Given the description of an element on the screen output the (x, y) to click on. 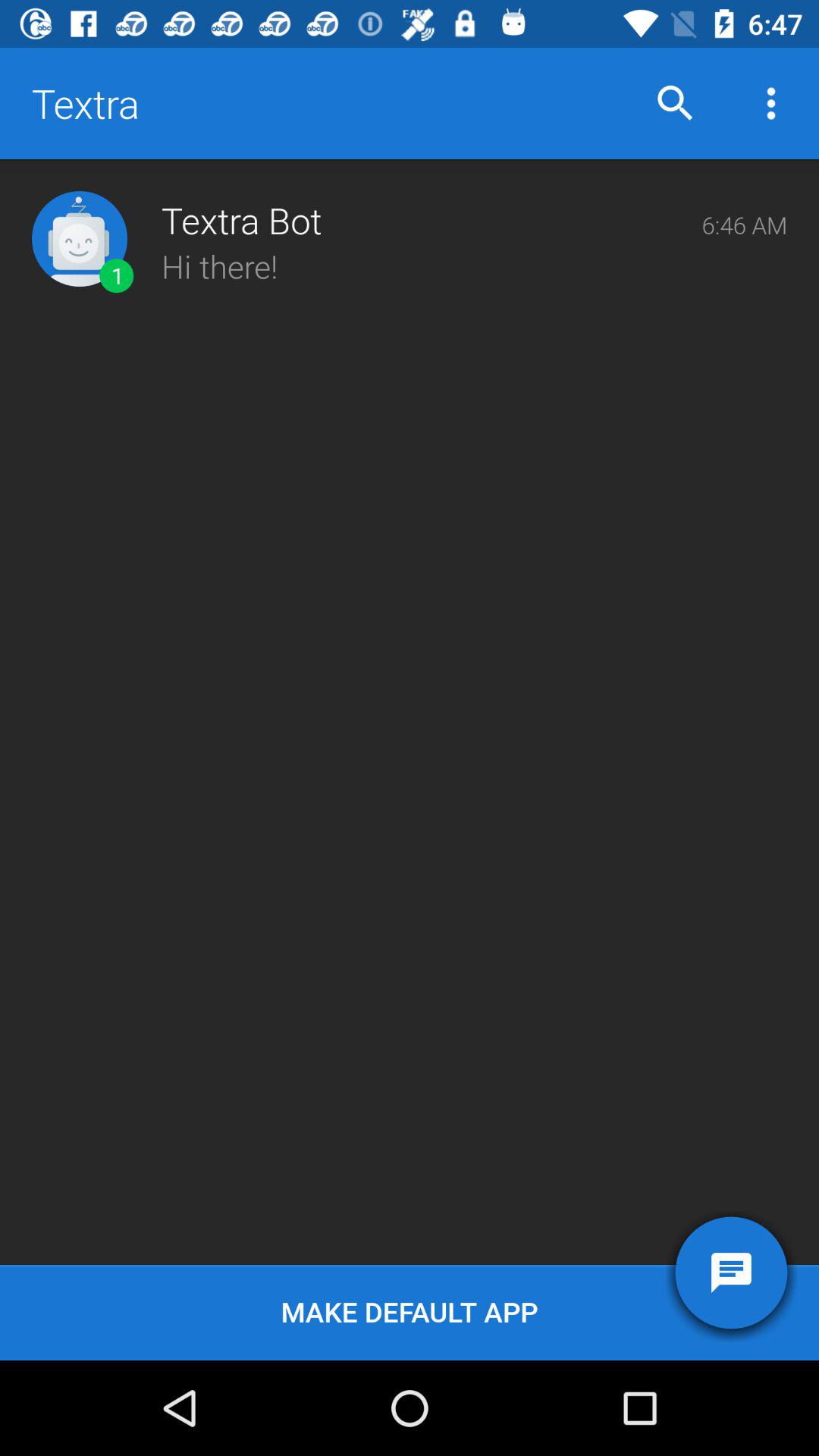
choose the icon to the right of make default app (731, 1272)
